Given the description of an element on the screen output the (x, y) to click on. 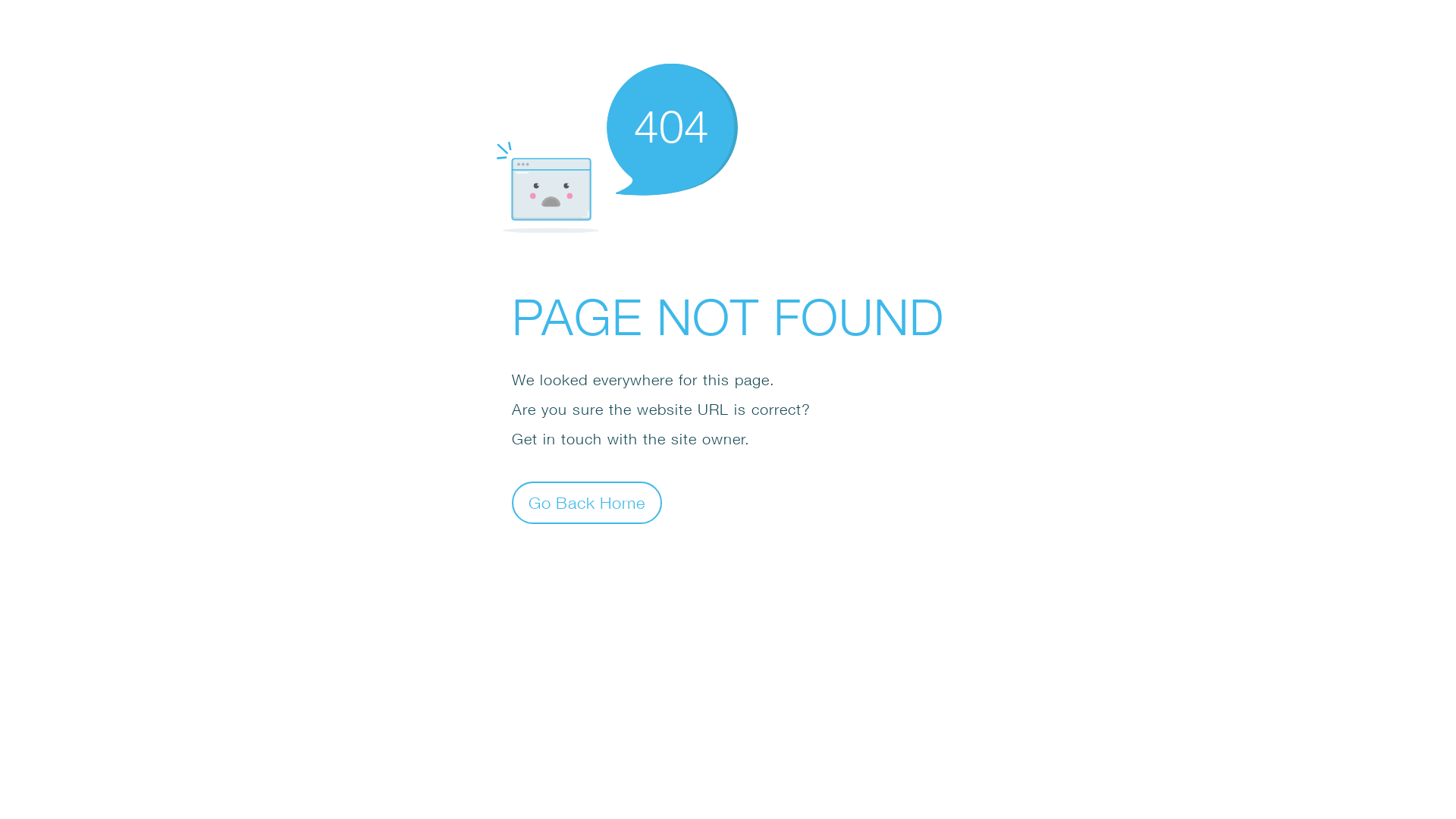
Go Back Home Element type: text (586, 502)
